Given the description of an element on the screen output the (x, y) to click on. 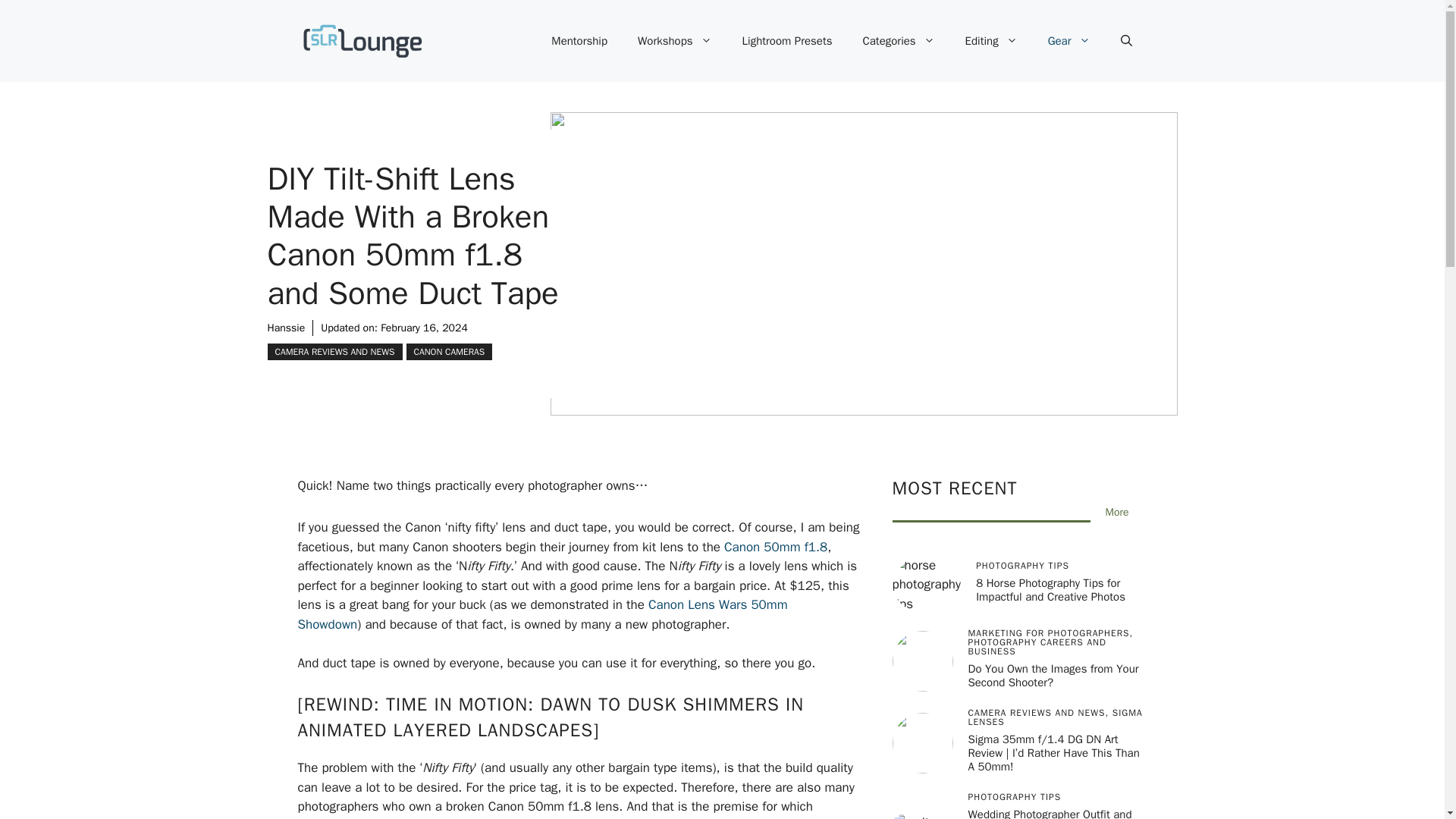
Gear (1068, 40)
Mentorship (579, 40)
Editing (991, 40)
Workshops (674, 40)
CAMERA REVIEWS AND NEWS (333, 351)
Lightroom Presets (786, 40)
Hanssie (285, 327)
Categories (898, 40)
